Given the description of an element on the screen output the (x, y) to click on. 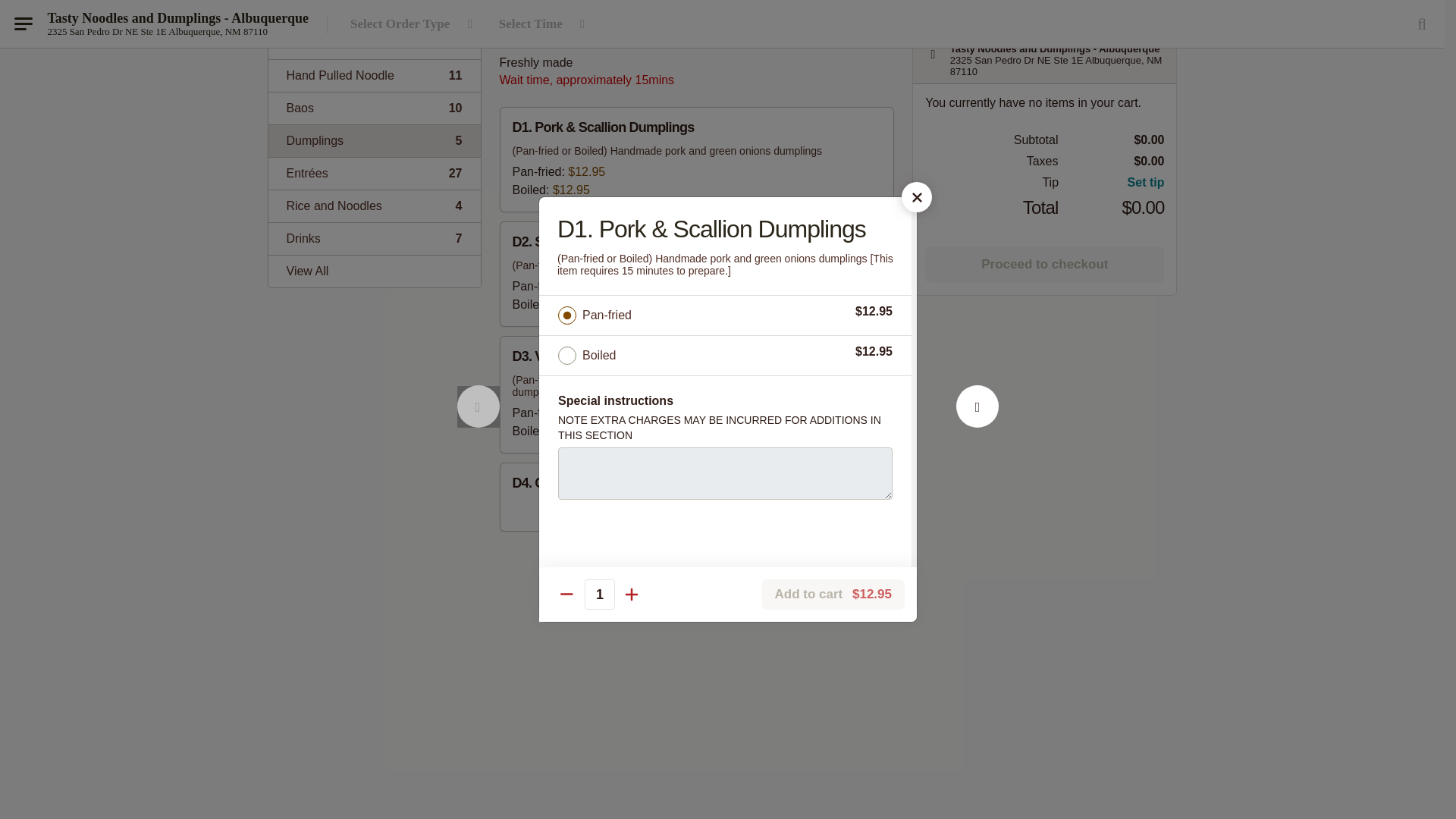
No previous items, this is the first item. (478, 92)
D2. Samsum Dumplings (977, 92)
D2. Samsum Dumplings (696, 273)
1 (599, 263)
Add tip (1112, 182)
Dumplings (373, 107)
View All (696, 30)
Proceed to checkout (373, 140)
D3. Vegetable Dumplings (373, 237)
